Given the description of an element on the screen output the (x, y) to click on. 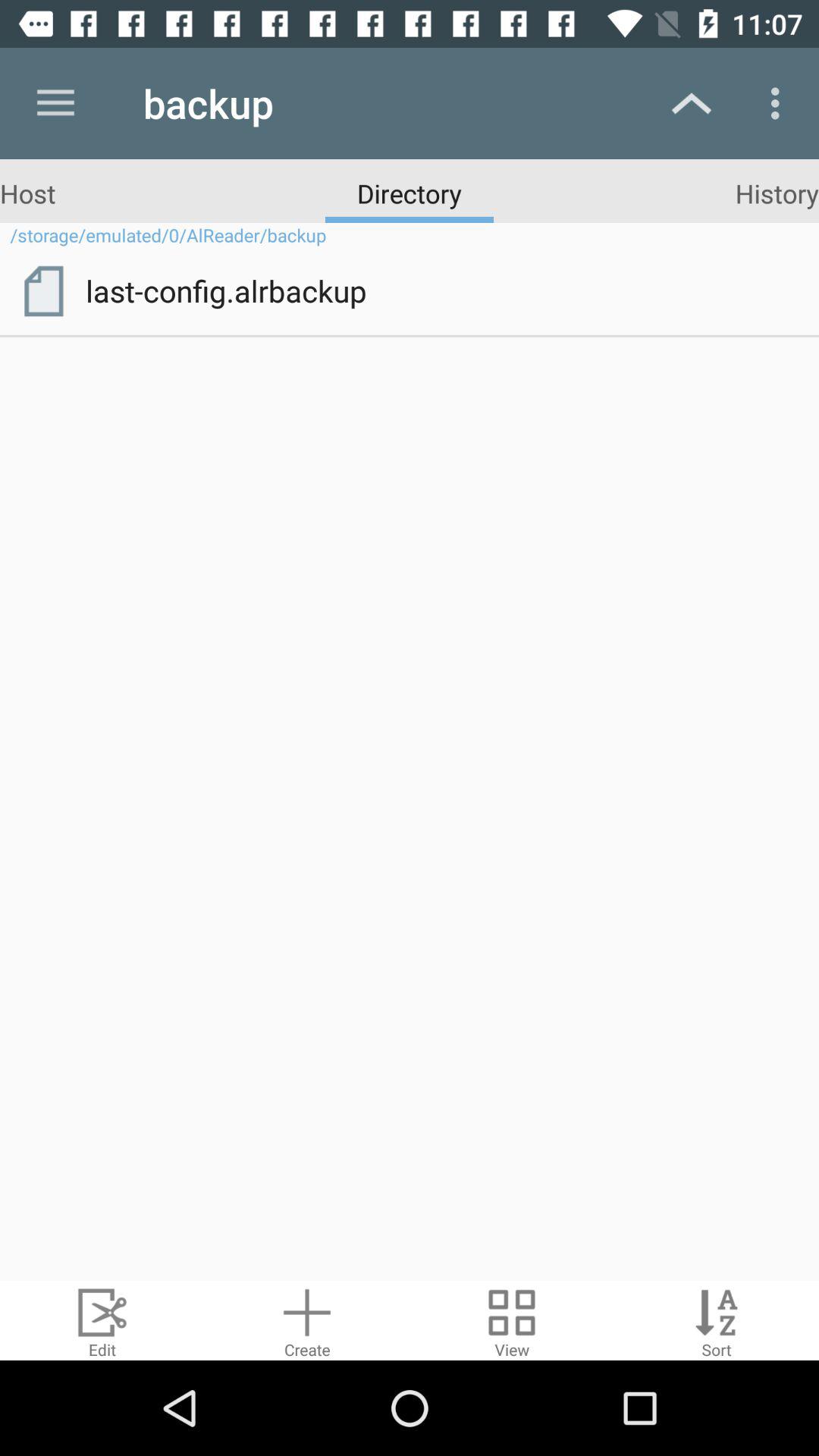
go to edit (102, 1320)
